Given the description of an element on the screen output the (x, y) to click on. 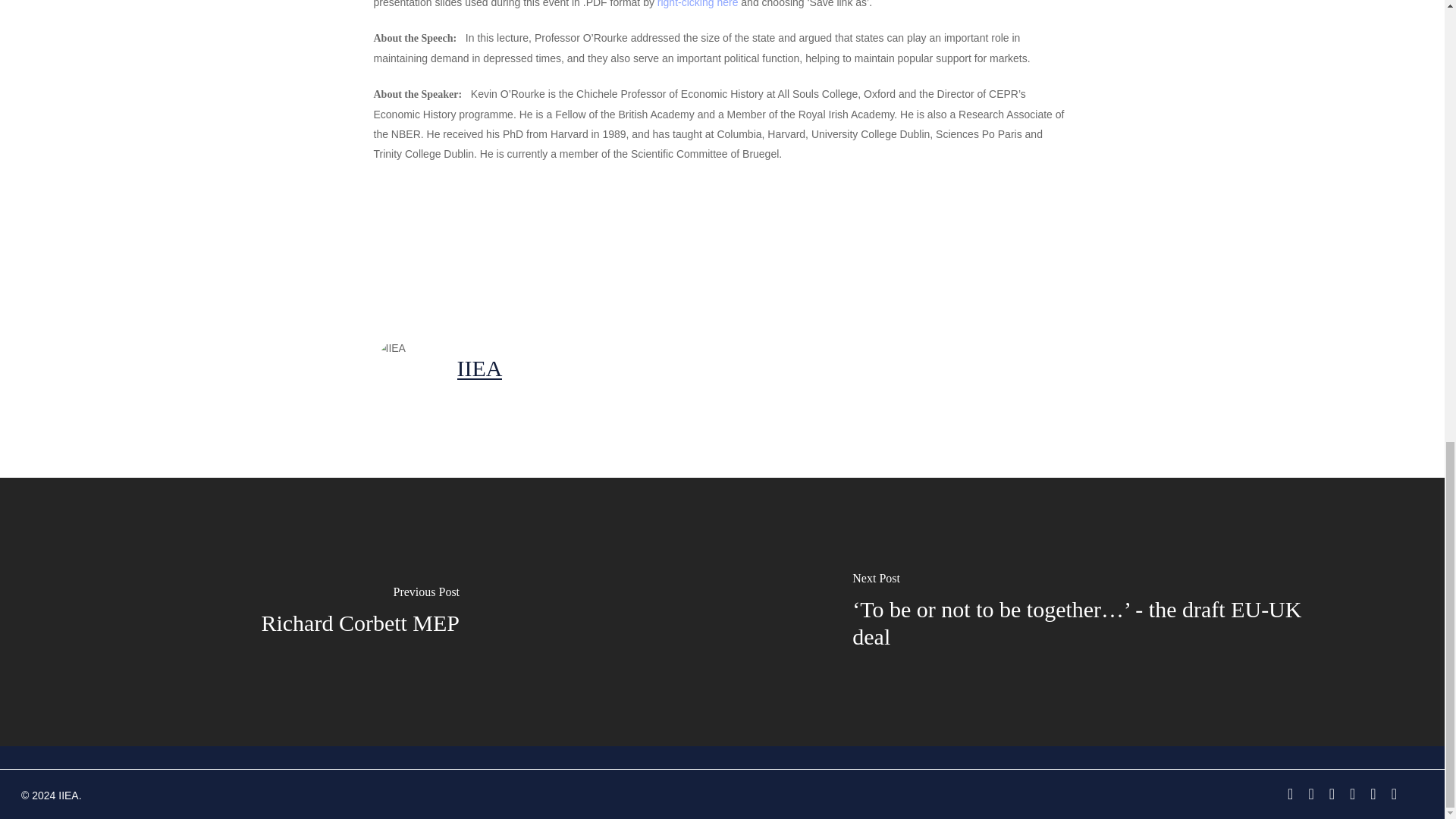
Tweet (510, 246)
Tweet this (510, 246)
Share this (604, 246)
right-clcking here (698, 4)
Share this (414, 246)
Share (604, 246)
Pin this (692, 246)
Pin (692, 246)
Share (414, 246)
IIEA (479, 367)
